Given the description of an element on the screen output the (x, y) to click on. 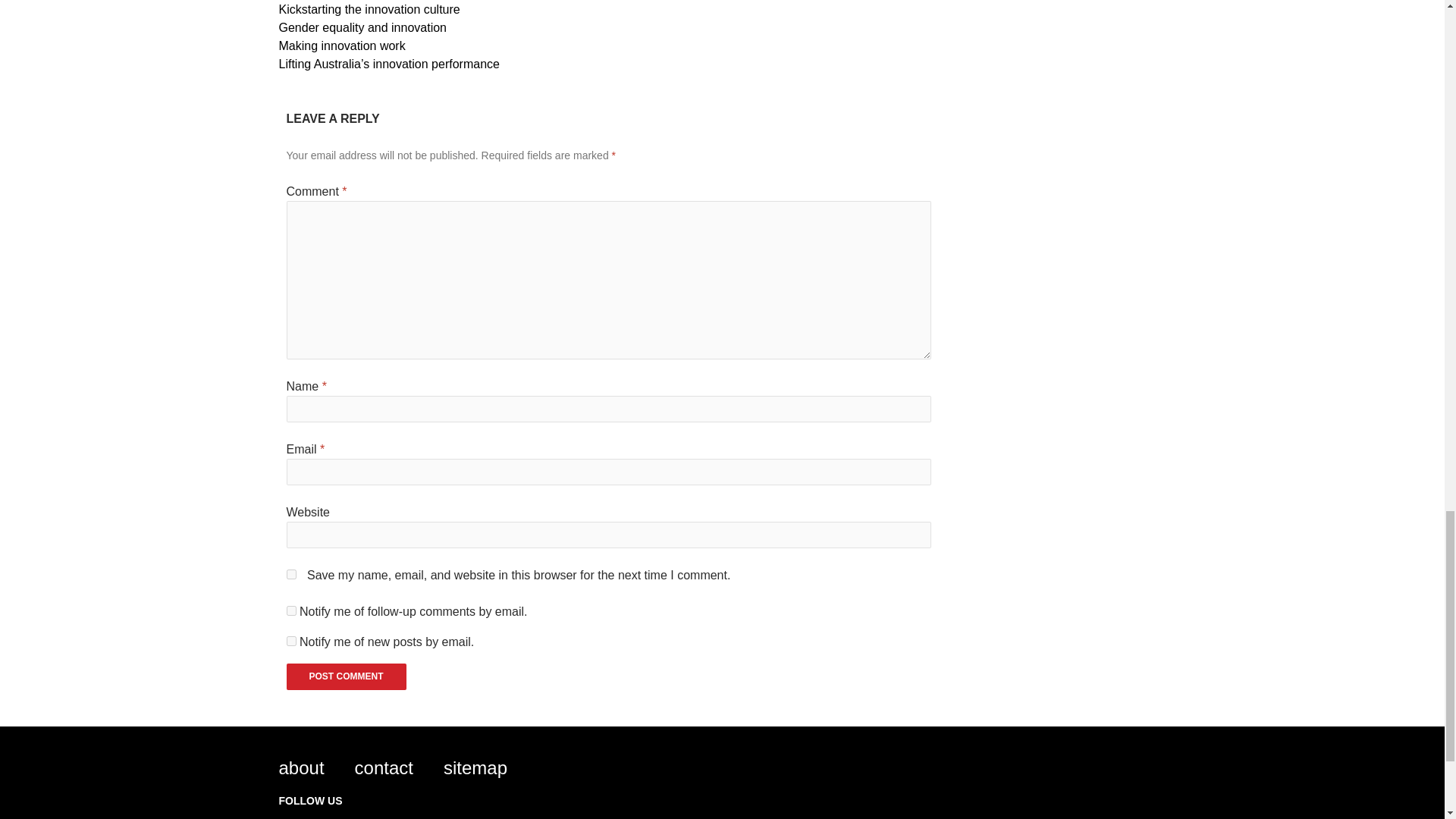
yes (291, 574)
subscribe (291, 641)
Kickstarting the innovation culture (369, 9)
Making innovation work (342, 45)
Gender equality and innovation (362, 27)
Post Comment (346, 676)
subscribe (291, 610)
Post Comment (346, 676)
